Given the description of an element on the screen output the (x, y) to click on. 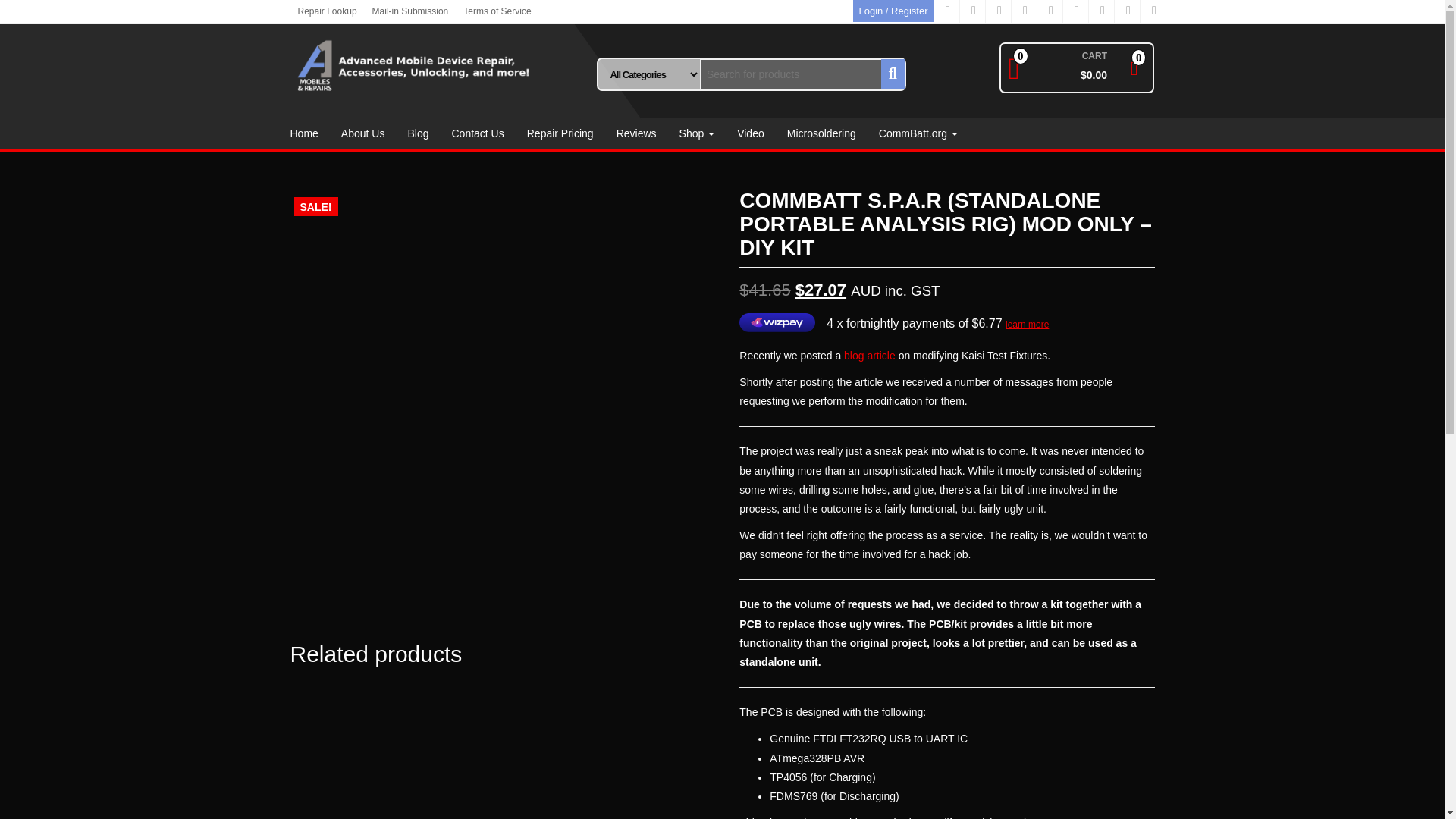
Repair Pricing (560, 132)
Repair Lookup (326, 11)
Video (750, 132)
CommBatt.org (918, 132)
Terms of Service (496, 11)
Blog (417, 132)
Shop (697, 132)
Microsoldering (821, 132)
Repair Pricing (560, 132)
Mail-in Submission (411, 11)
